Given the description of an element on the screen output the (x, y) to click on. 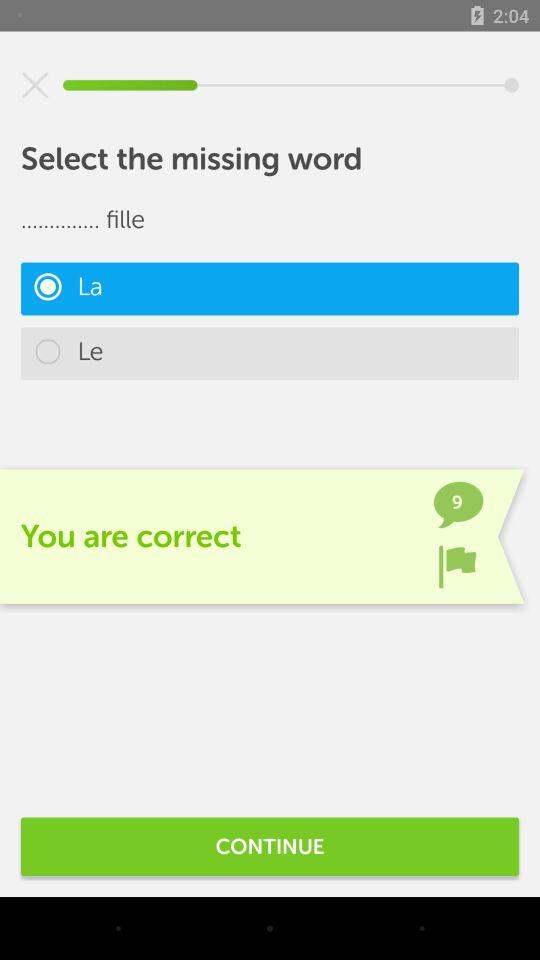
open item below the la icon (270, 353)
